Given the description of an element on the screen output the (x, y) to click on. 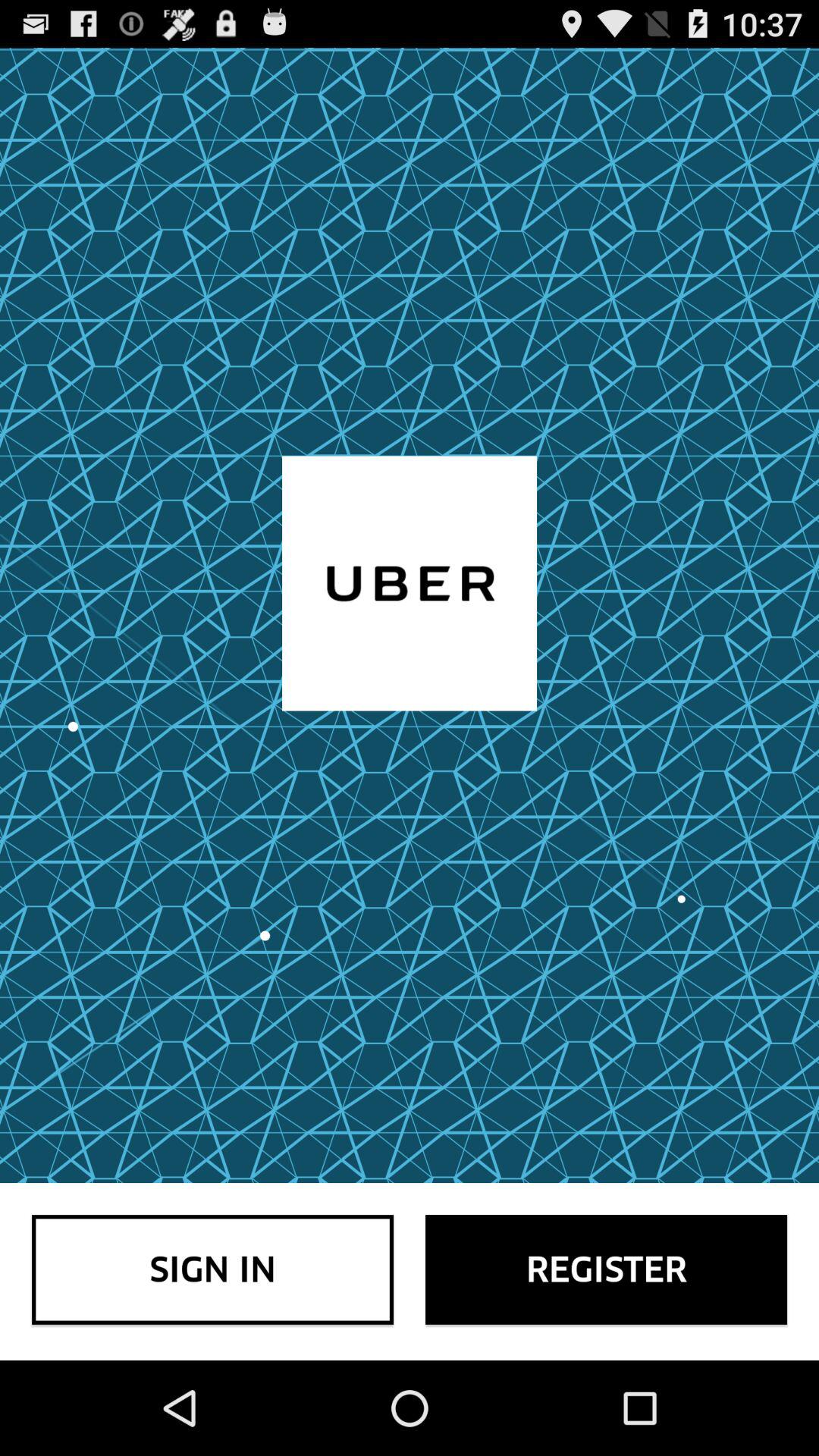
open item at the bottom right corner (606, 1269)
